Given the description of an element on the screen output the (x, y) to click on. 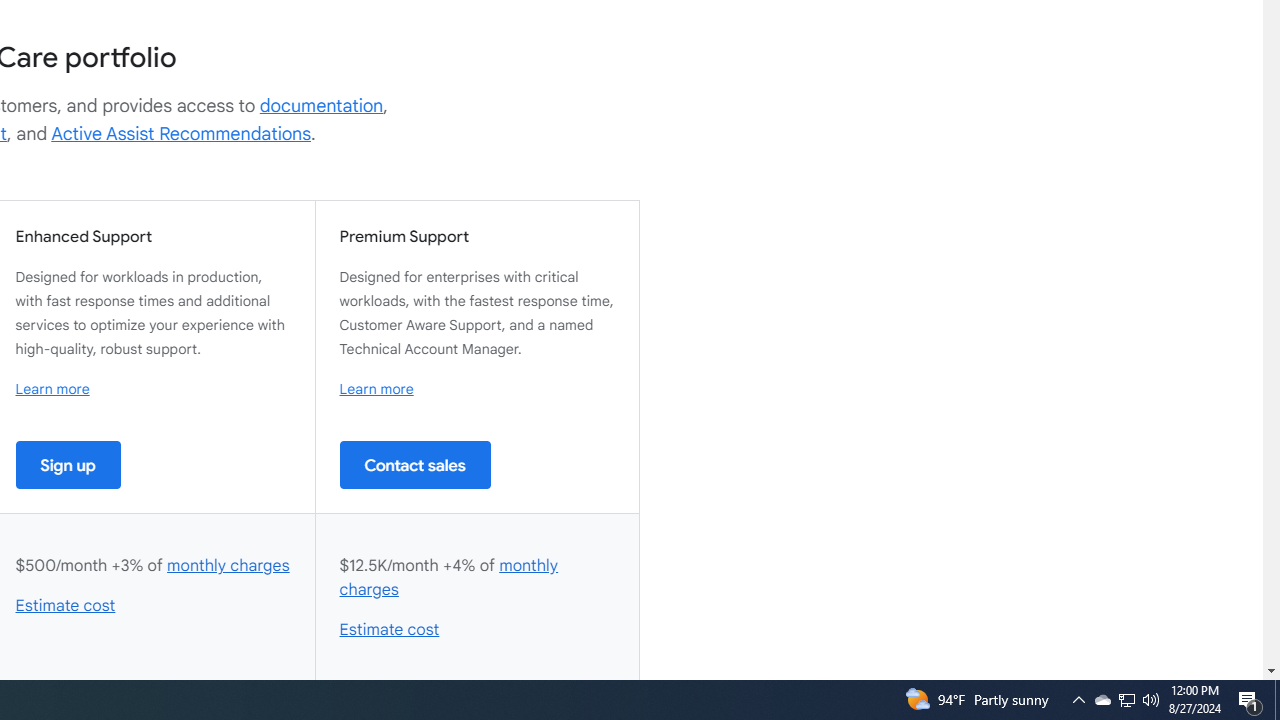
Learn more (376, 389)
Contact sales (415, 464)
monthly charges (449, 577)
Estimate cost (389, 629)
Active Assist Recommendations (181, 133)
Sign up (68, 464)
documentation (321, 105)
